Given the description of an element on the screen output the (x, y) to click on. 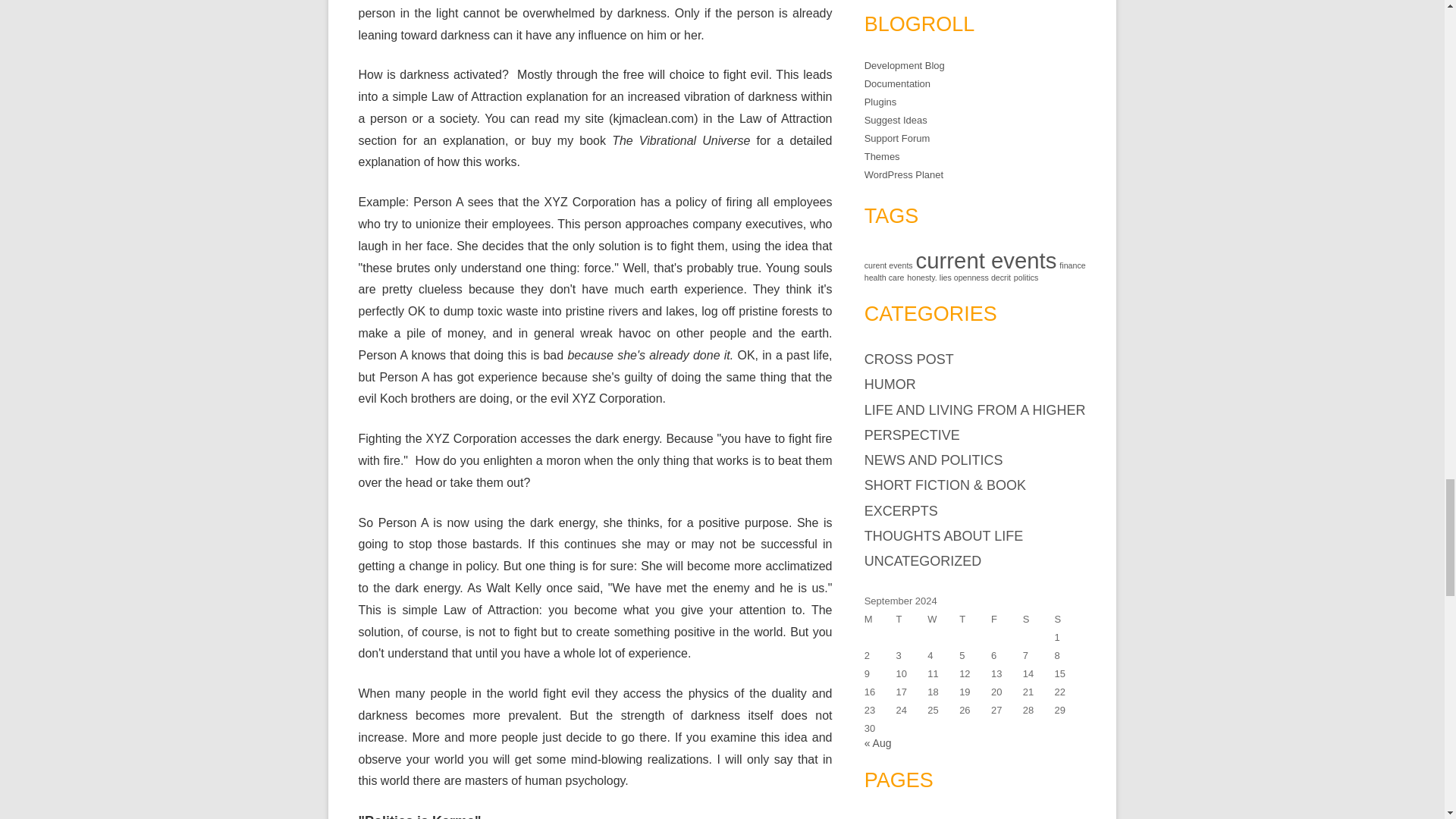
Friday (1007, 619)
Wednesday (943, 619)
Saturday (1038, 619)
Tuesday (912, 619)
Thursday (975, 619)
Sunday (1070, 619)
Monday (880, 619)
